Given the description of an element on the screen output the (x, y) to click on. 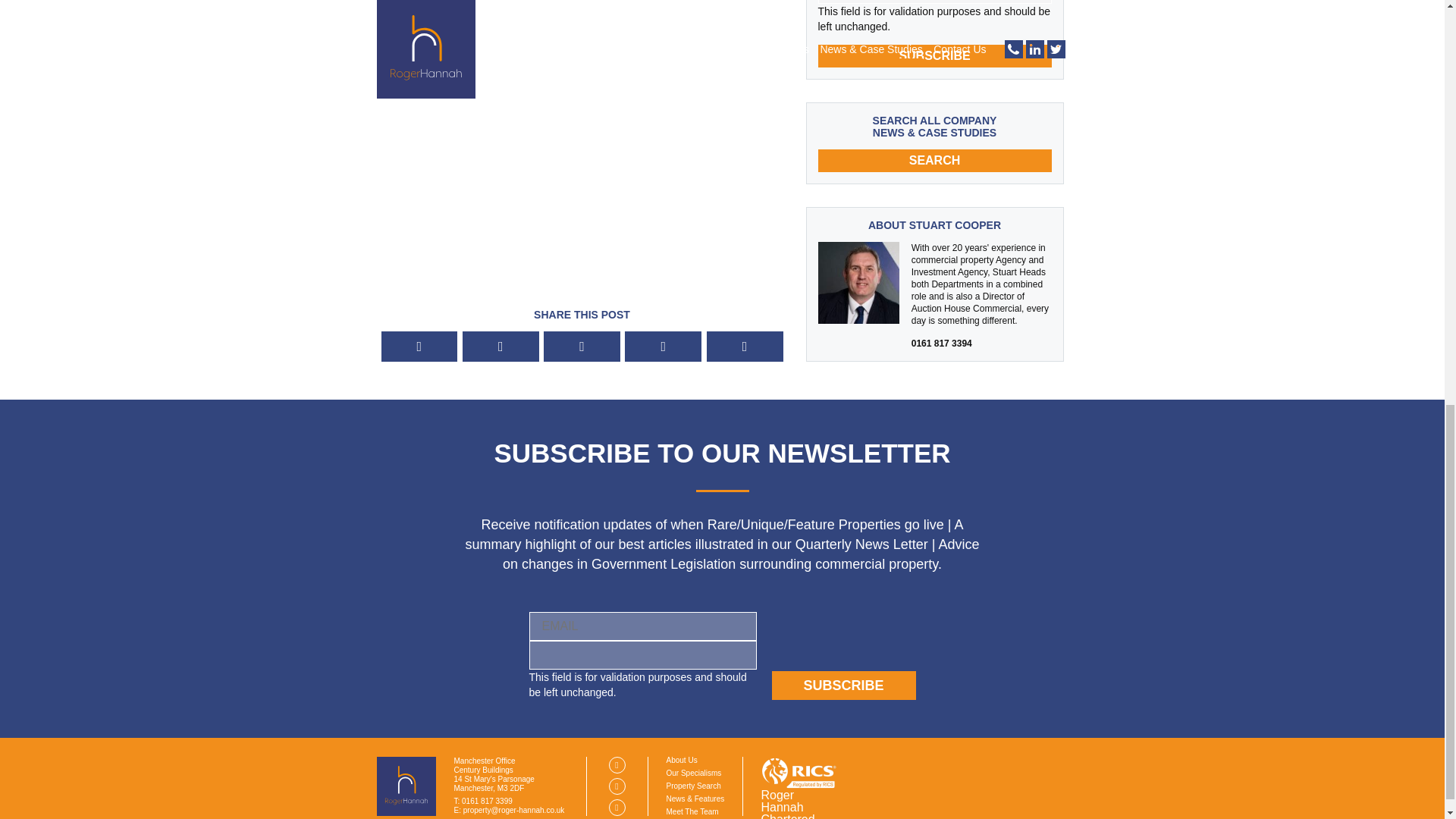
Subscribe (843, 685)
Subscribe (933, 56)
